Given the description of an element on the screen output the (x, y) to click on. 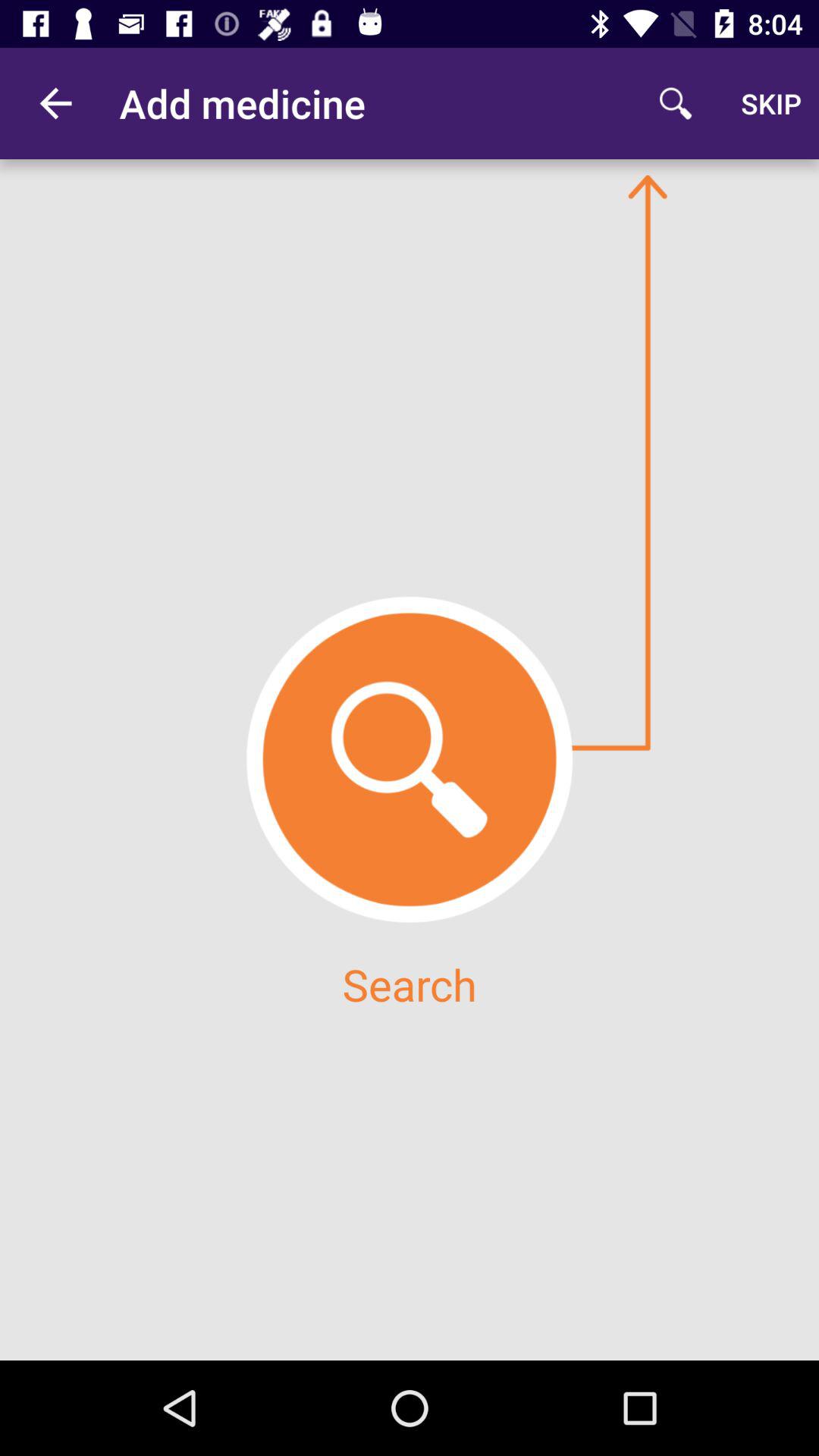
select the item to the left of the skip (675, 103)
